Given the description of an element on the screen output the (x, y) to click on. 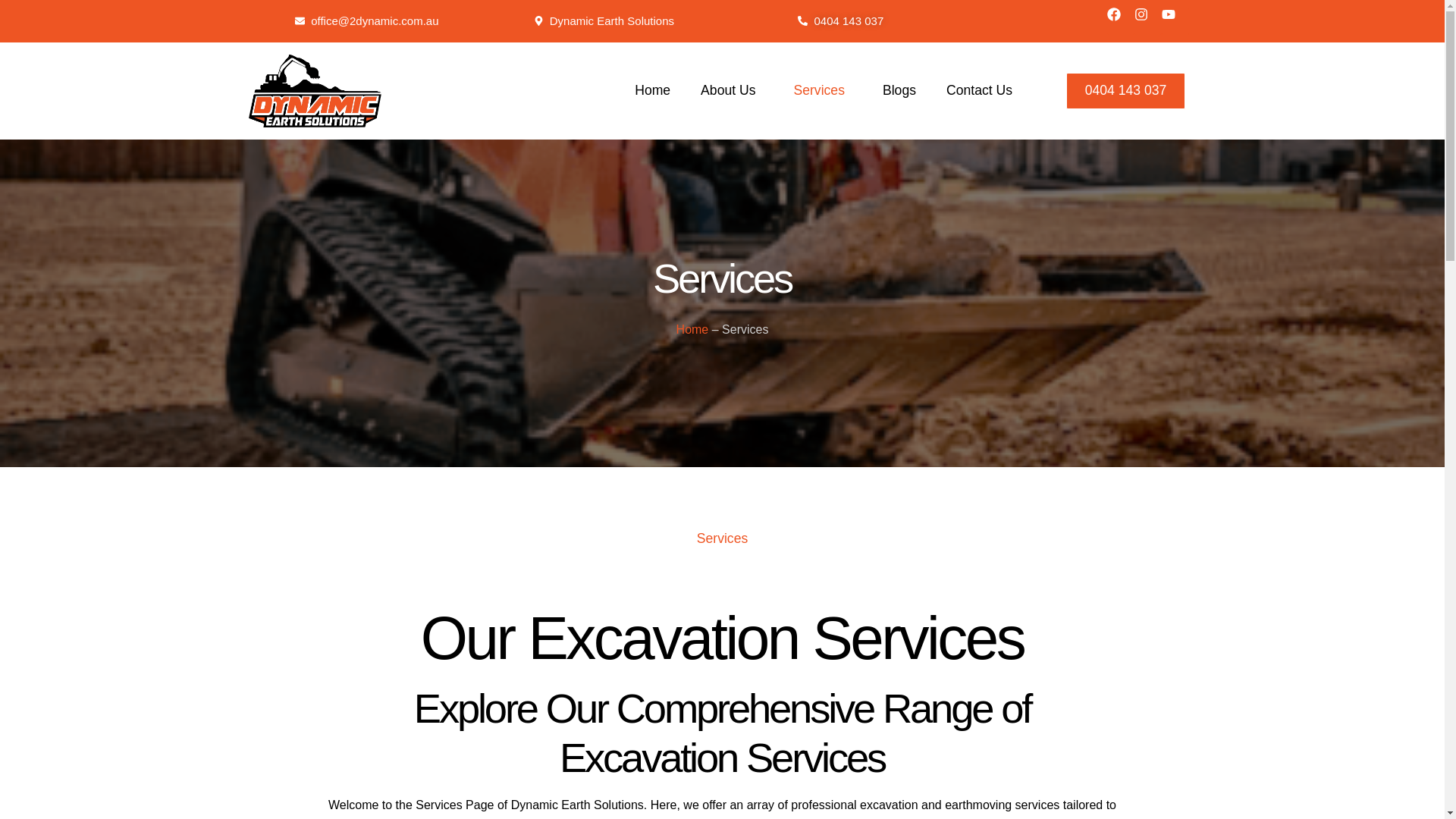
Services (821, 90)
Home (652, 90)
Contact Us (979, 90)
Dynamic Earth Solutions (604, 21)
Blogs (899, 90)
About Us (731, 90)
0404 143 037 (840, 21)
